Given the description of an element on the screen output the (x, y) to click on. 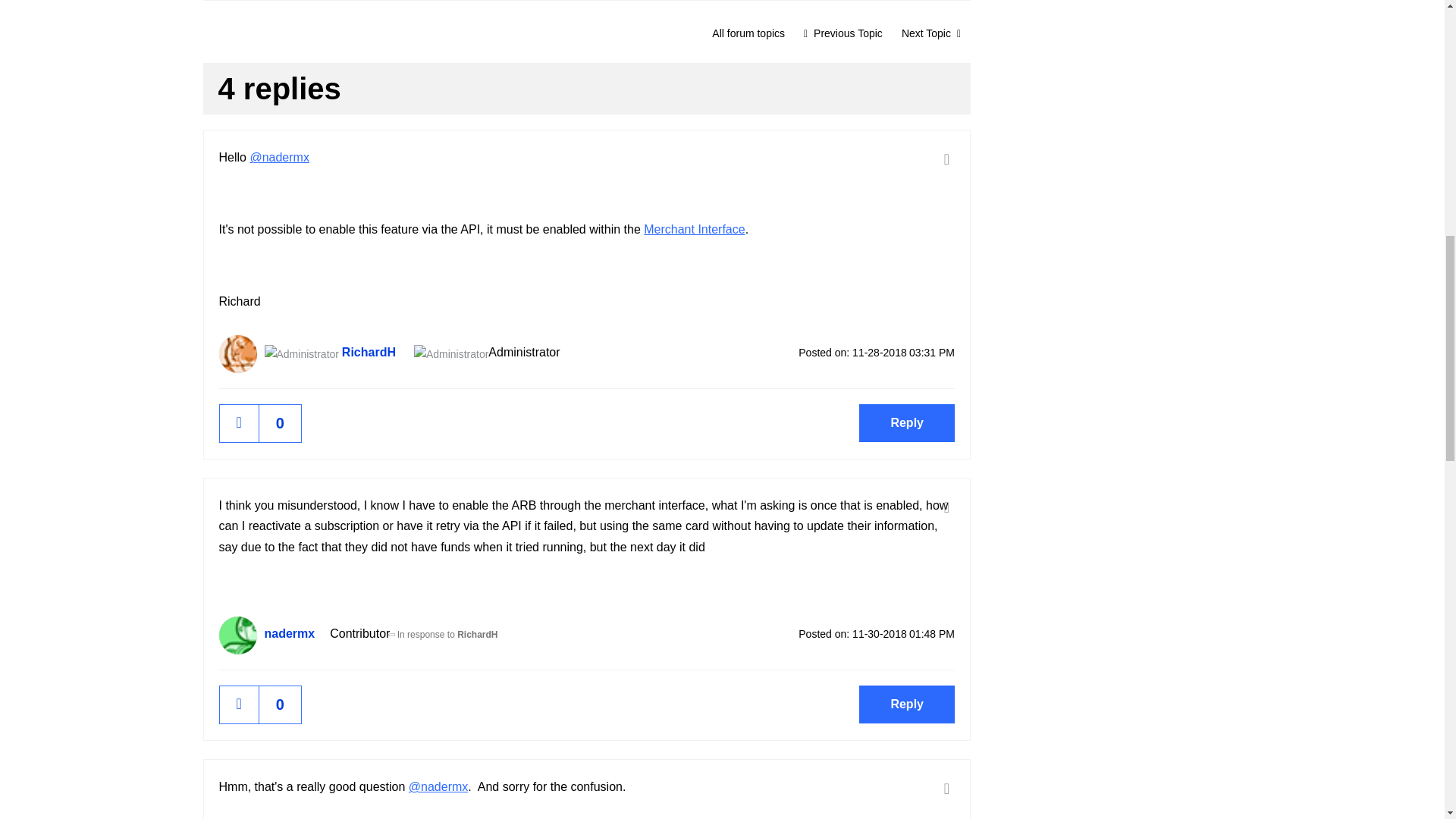
ARB: Active vs Suspended STATUS on Decline? (931, 32)
Administrator (300, 353)
How do I get my Maven Integration tests to run (842, 32)
RichardH (237, 353)
Integration and Testing (747, 32)
